Given the description of an element on the screen output the (x, y) to click on. 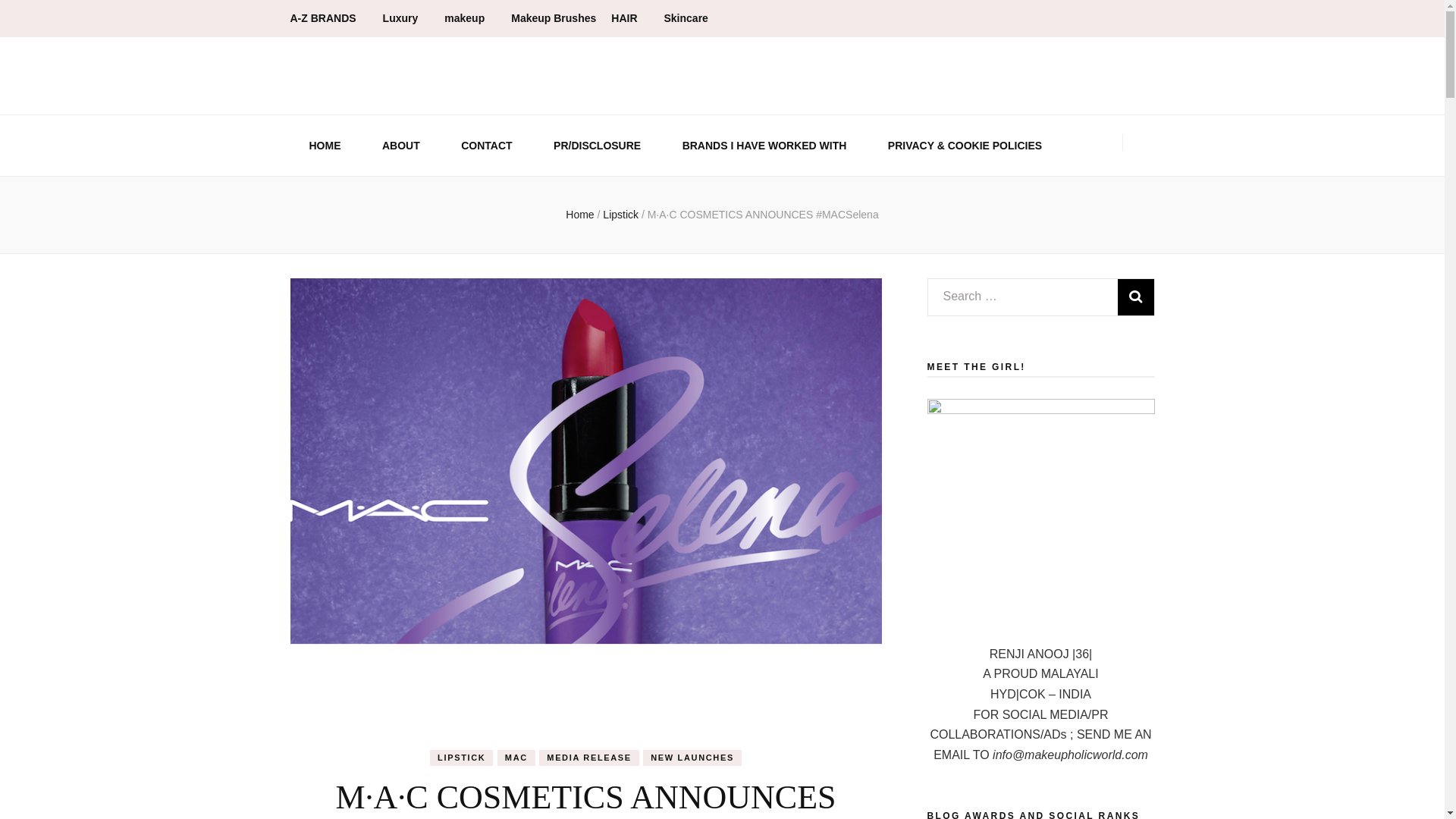
A-Z BRANDS (327, 18)
Search (1136, 297)
Search (1136, 297)
